Given the description of an element on the screen output the (x, y) to click on. 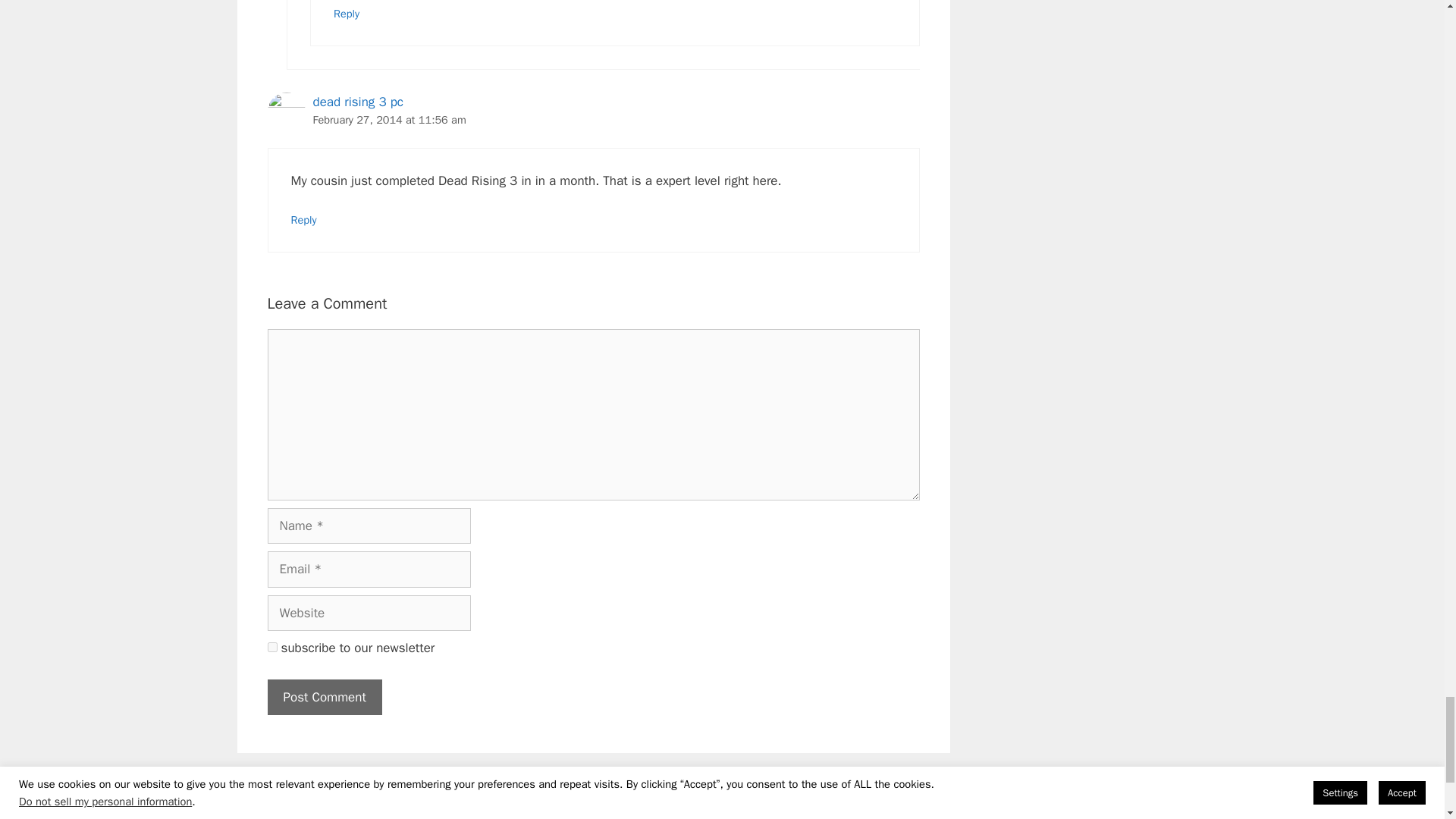
1 (271, 646)
Post Comment (323, 697)
